Given the description of an element on the screen output the (x, y) to click on. 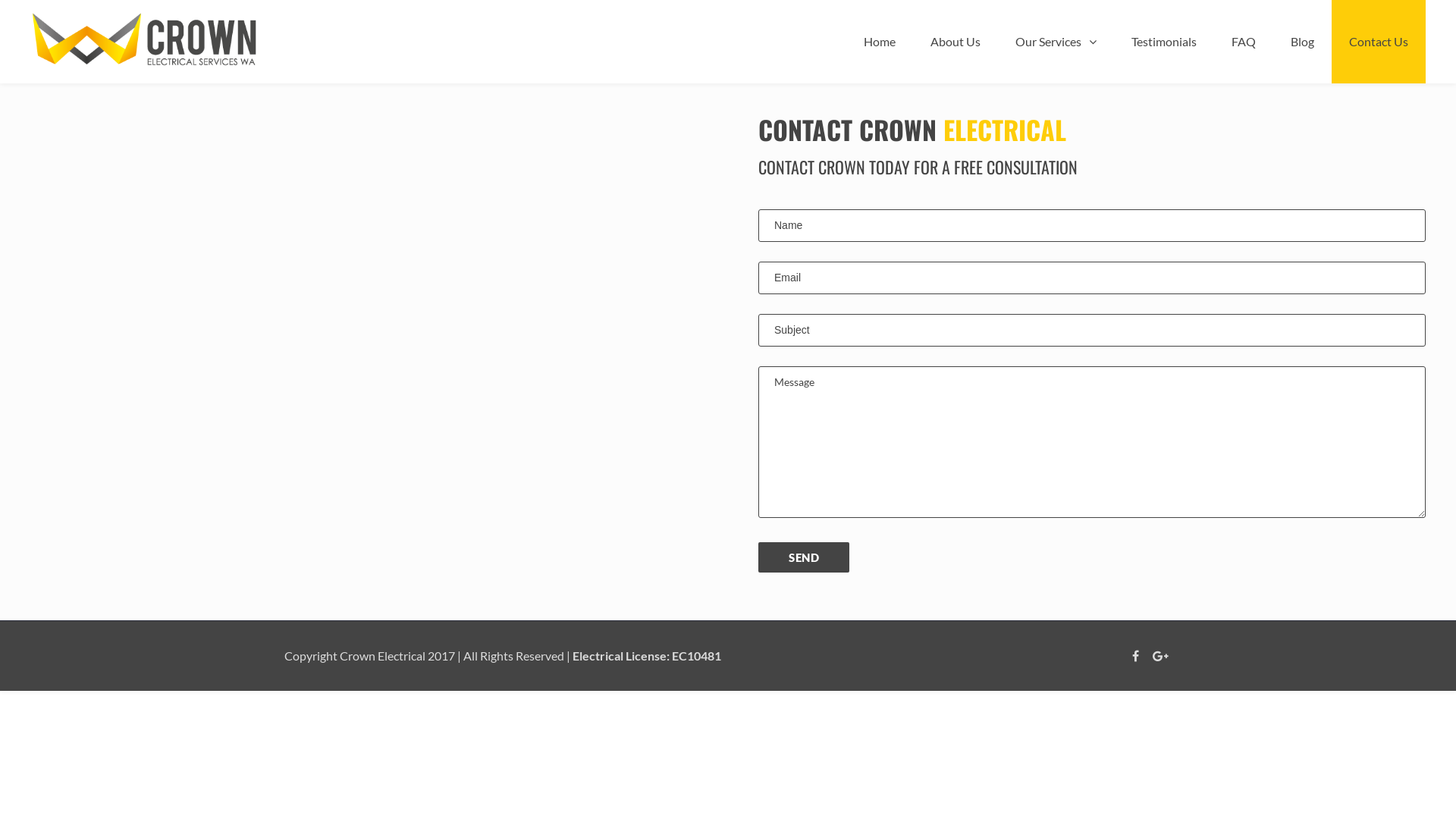
Crown Electrical Fremantle Element type: hover (143, 38)
Home Element type: text (879, 41)
Blog Element type: text (1302, 41)
Testimonials Element type: text (1163, 41)
Send Element type: text (803, 557)
Contact Us Element type: text (1378, 41)
Our Services Element type: text (1055, 41)
About Us Element type: text (955, 41)
FAQ Element type: text (1243, 41)
